Given the description of an element on the screen output the (x, y) to click on. 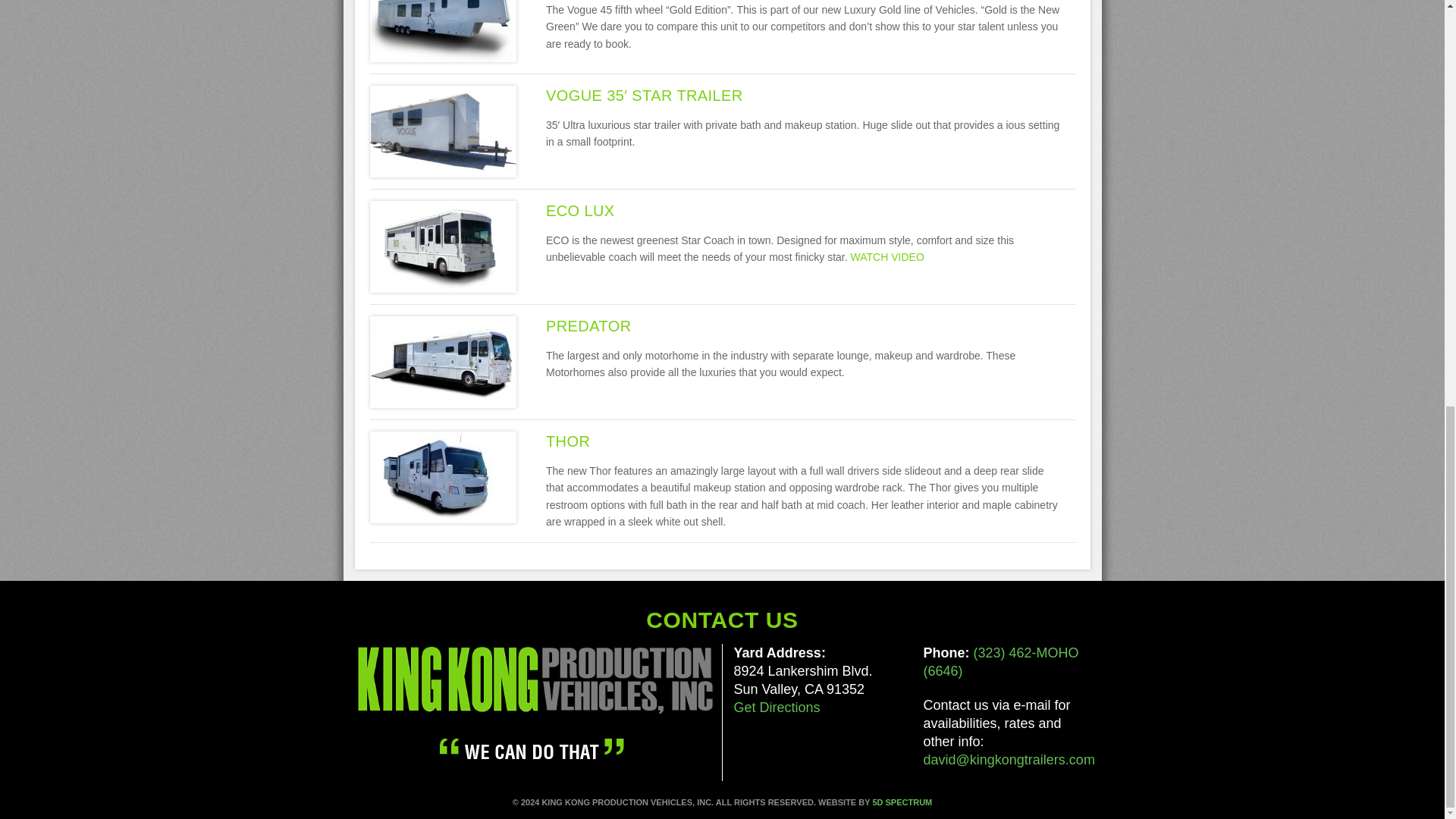
Predator (442, 360)
ECO Lux (442, 245)
ECO Lux (580, 210)
